Given the description of an element on the screen output the (x, y) to click on. 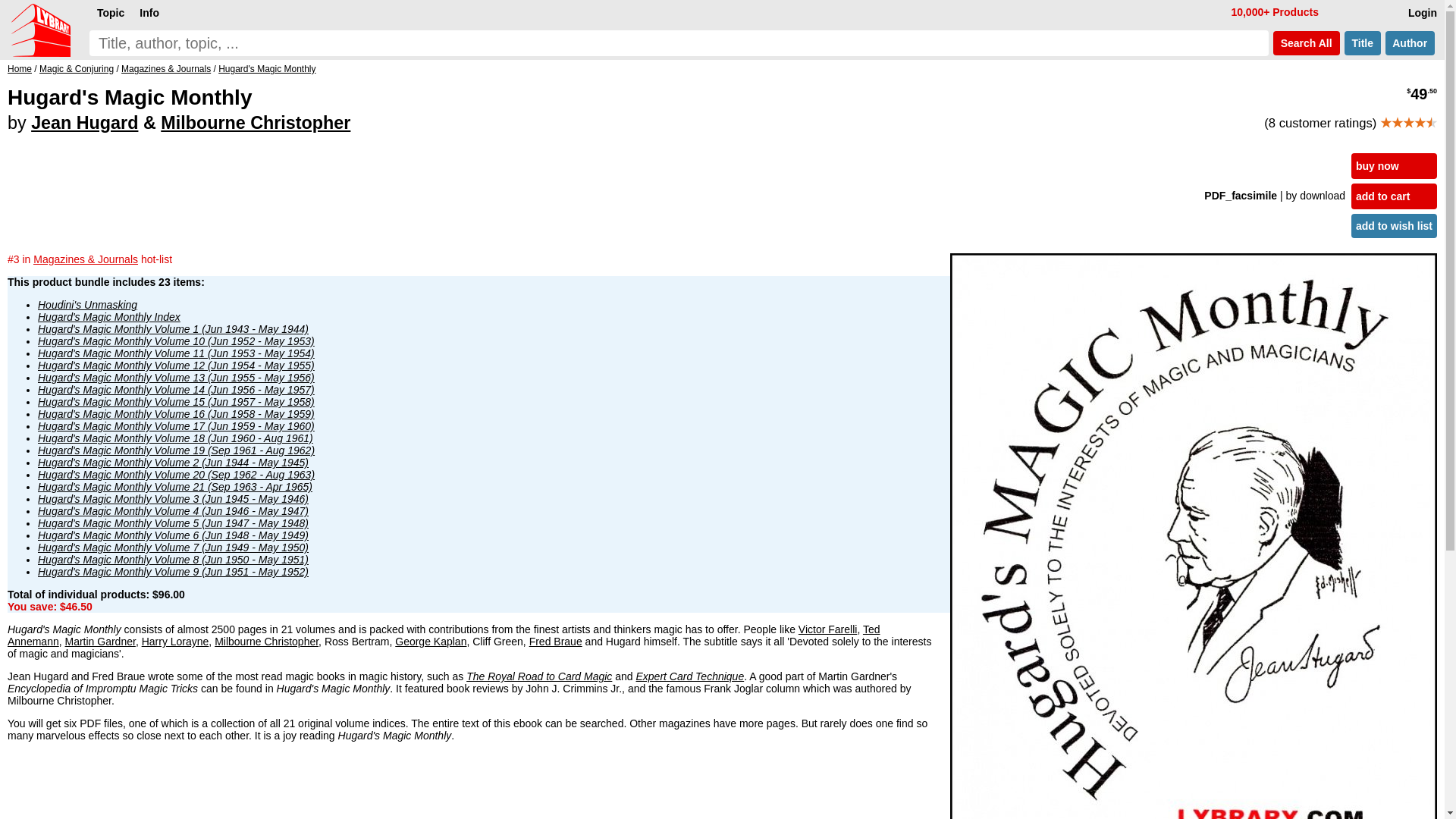
Houdini's Unmasking (86, 304)
Jean Hugard (84, 122)
 Title  (1361, 43)
add to wish list (1394, 225)
buy now (1394, 166)
Milbourne Christopher (255, 122)
 Search All  (1305, 43)
add to cart (1394, 196)
Hugard's Magic Monthly (266, 68)
Hugard's Magic Monthly Index (108, 316)
